Given the description of an element on the screen output the (x, y) to click on. 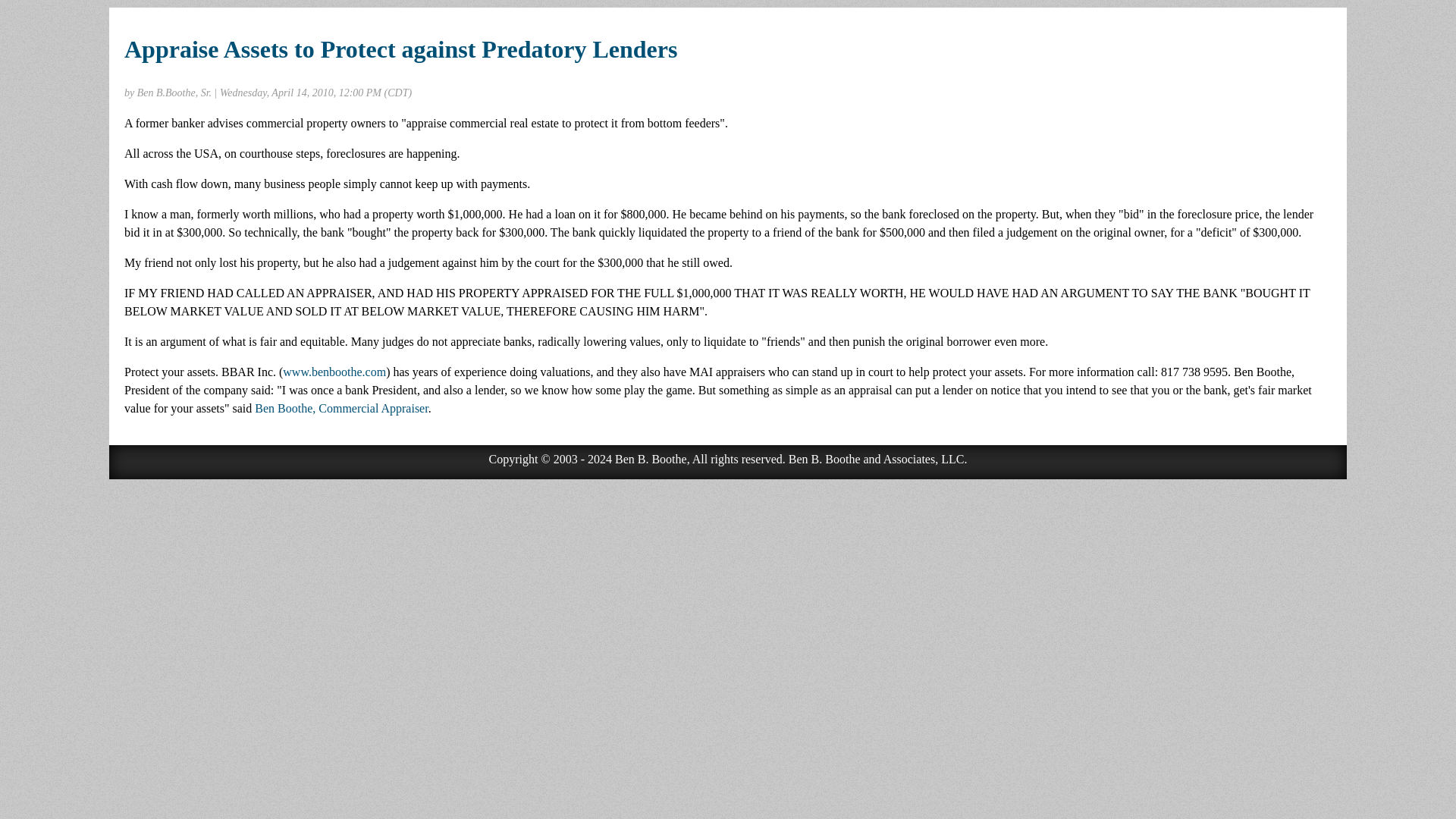
www.benboothe.com (333, 371)
Appraise Assets to Protect against Predatory Lenders (400, 49)
Ben Boothe, Commercial Appraiser (341, 408)
